Given the description of an element on the screen output the (x, y) to click on. 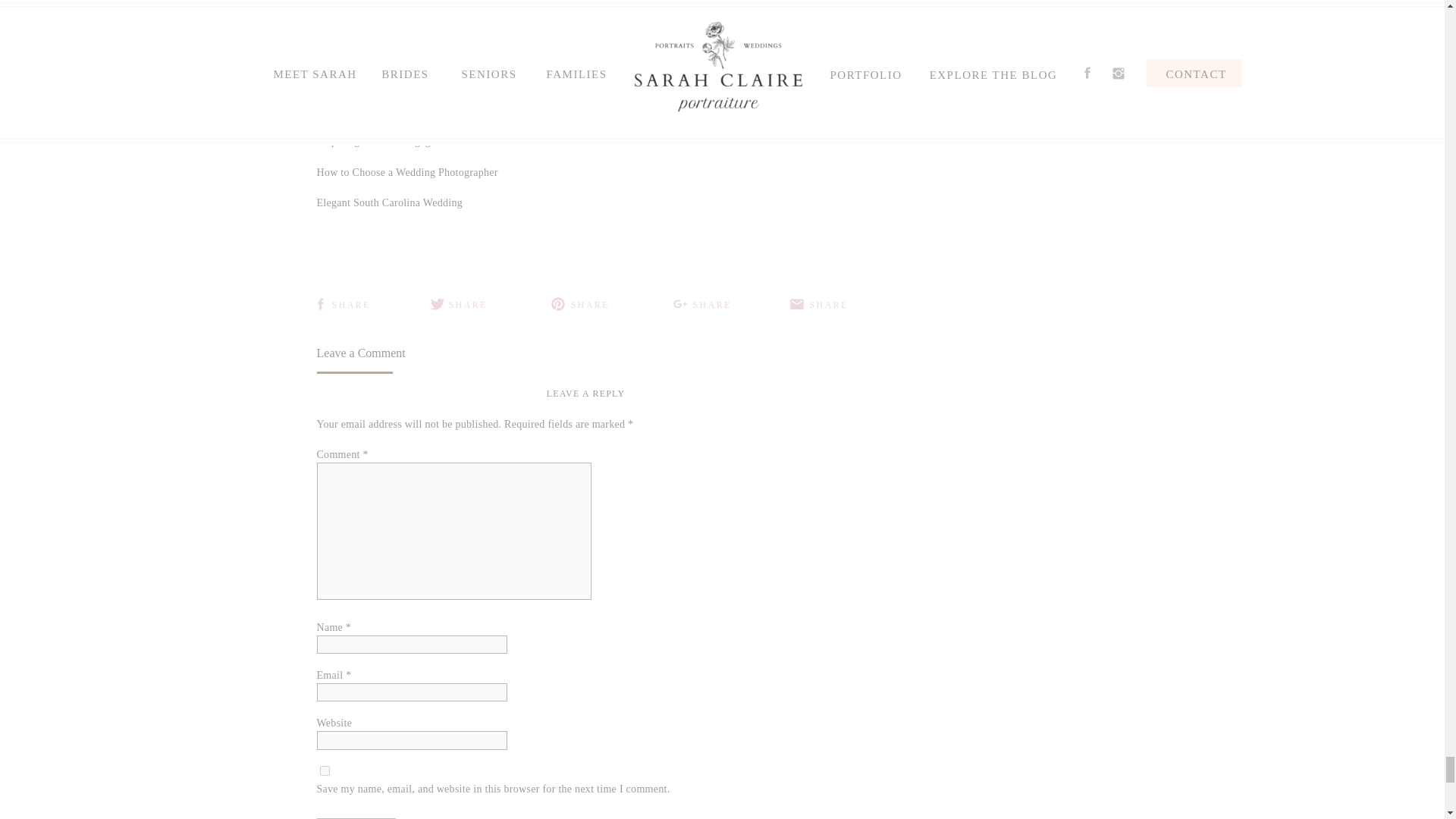
yes (325, 770)
Contact me (471, 4)
